Given the description of an element on the screen output the (x, y) to click on. 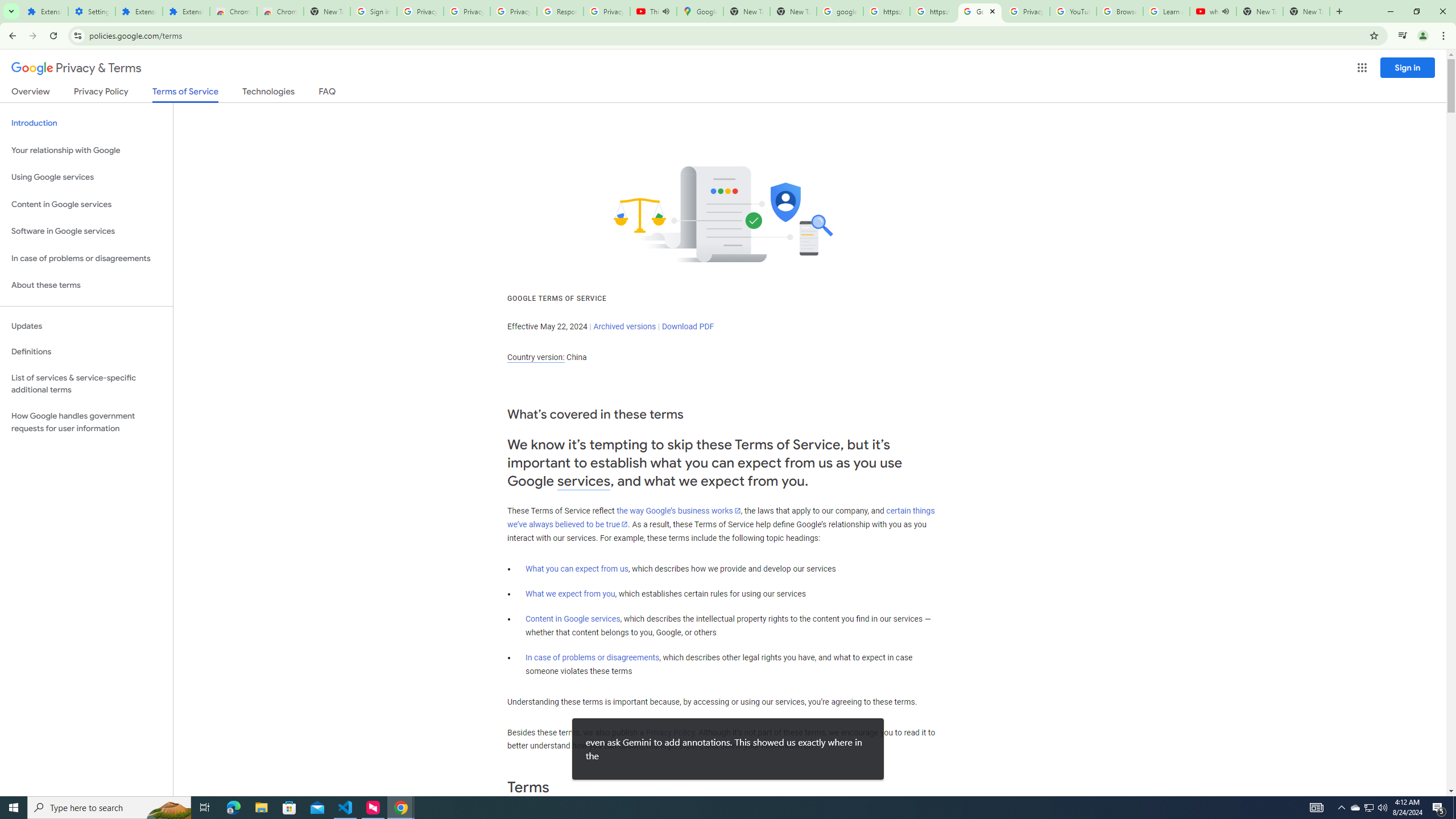
Browse Chrome as a guest - Computer - Google Chrome Help (1120, 11)
About these terms (86, 284)
https://scholar.google.com/ (933, 11)
Extensions (186, 11)
